Given the description of an element on the screen output the (x, y) to click on. 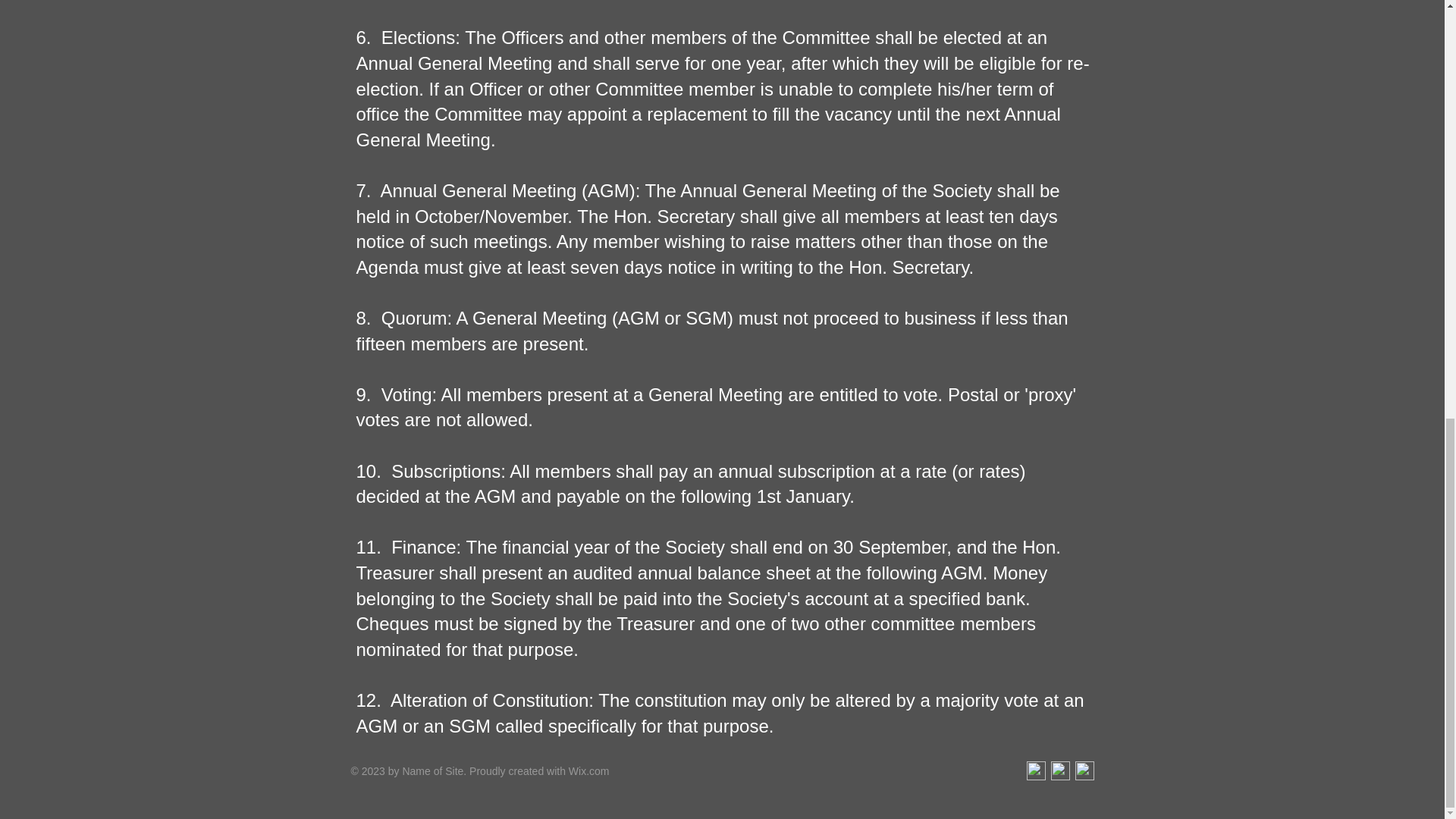
Wix.com (589, 770)
